Given the description of an element on the screen output the (x, y) to click on. 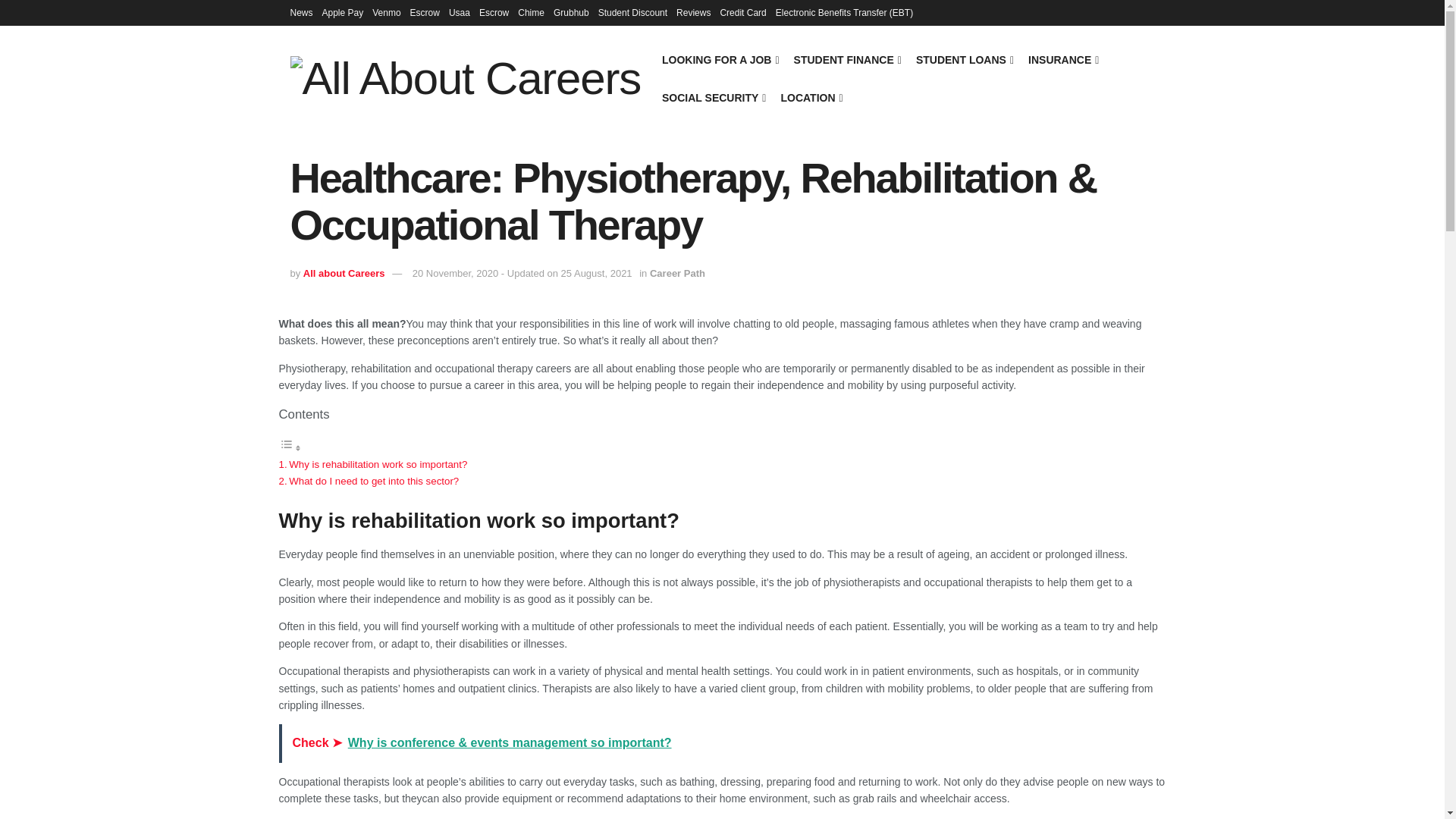
Grubhub (571, 12)
Student Discount (632, 12)
Escrow (493, 12)
Reviews (693, 12)
Venmo (386, 12)
Credit Card (742, 12)
Chime (531, 12)
Apple Pay (342, 12)
Escrow (424, 12)
LOOKING FOR A JOB (719, 59)
